Given the description of an element on the screen output the (x, y) to click on. 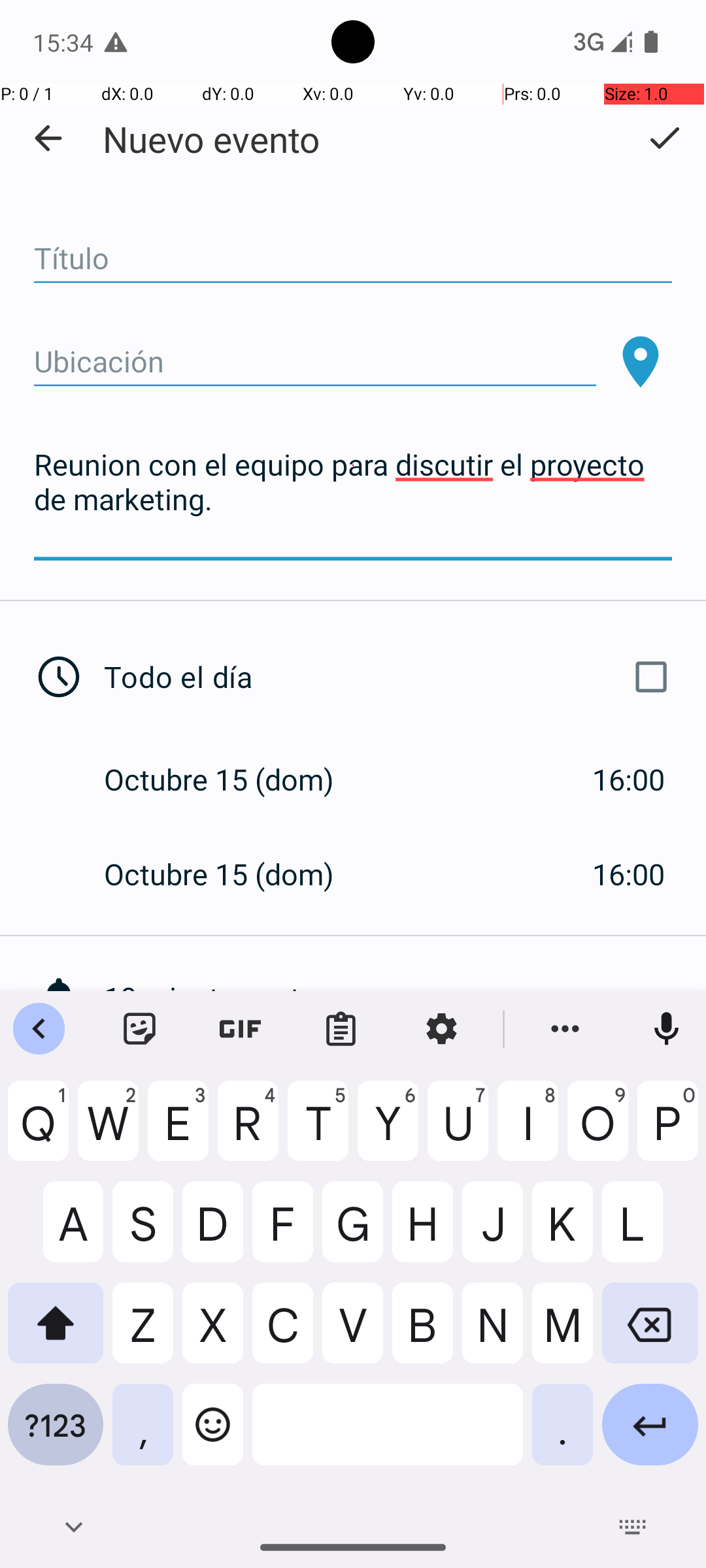
Título Element type: android.widget.EditText (352, 258)
Ubicación Element type: android.widget.EditText (314, 361)
Reunion con el equipo para discutir el proyecto de marketing.
 Element type: android.widget.EditText (352, 499)
